Given the description of an element on the screen output the (x, y) to click on. 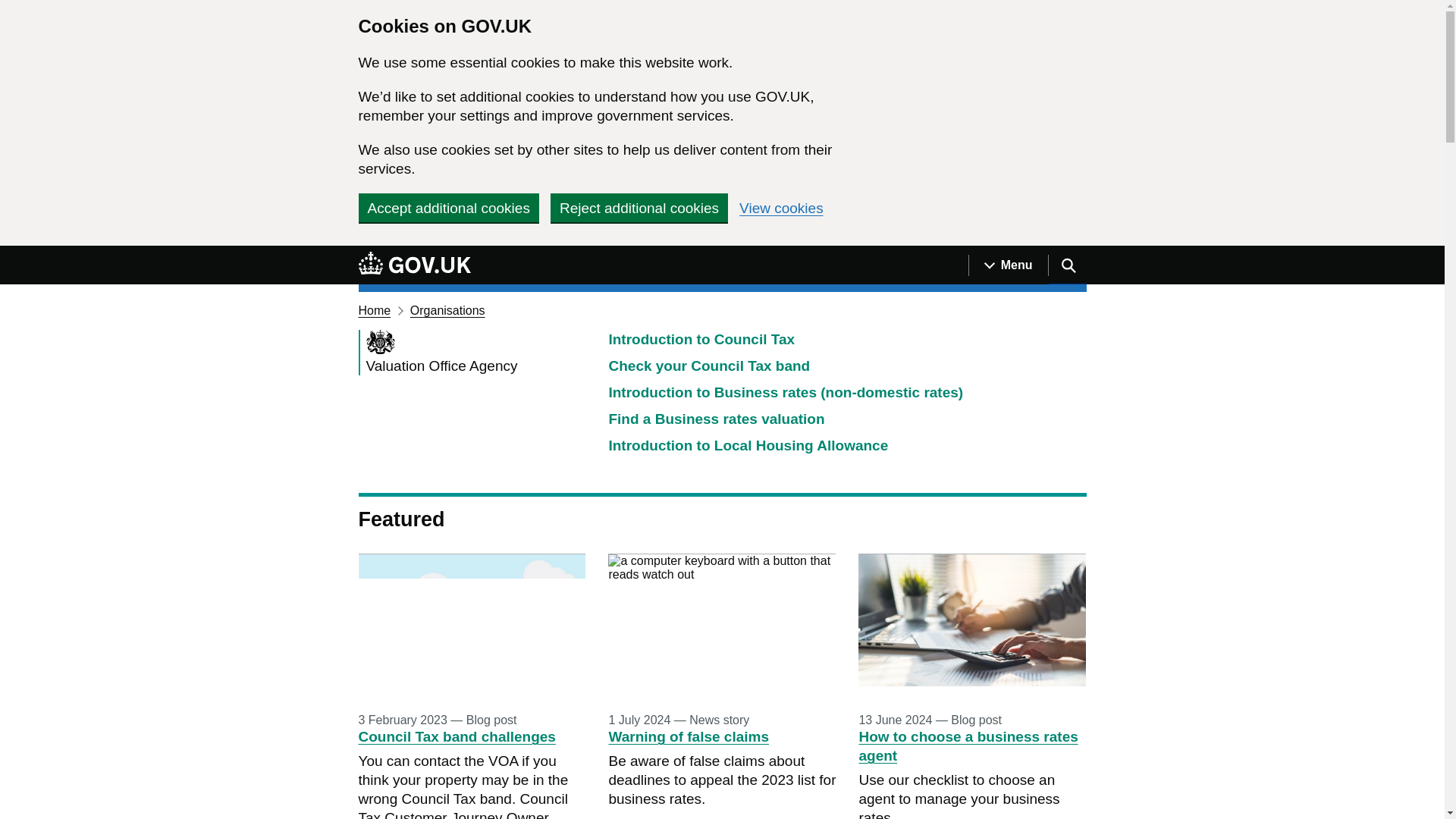
Find a Business rates valuation (716, 418)
Council Tax band challenges (456, 736)
GOV.UK (414, 262)
Warning of false claims (688, 736)
Organisations (447, 309)
Introduction to Council Tax (701, 339)
How to choose a business rates agent (968, 745)
Menu (1008, 265)
Reject additional cookies (639, 207)
Accept additional cookies (448, 207)
